Given the description of an element on the screen output the (x, y) to click on. 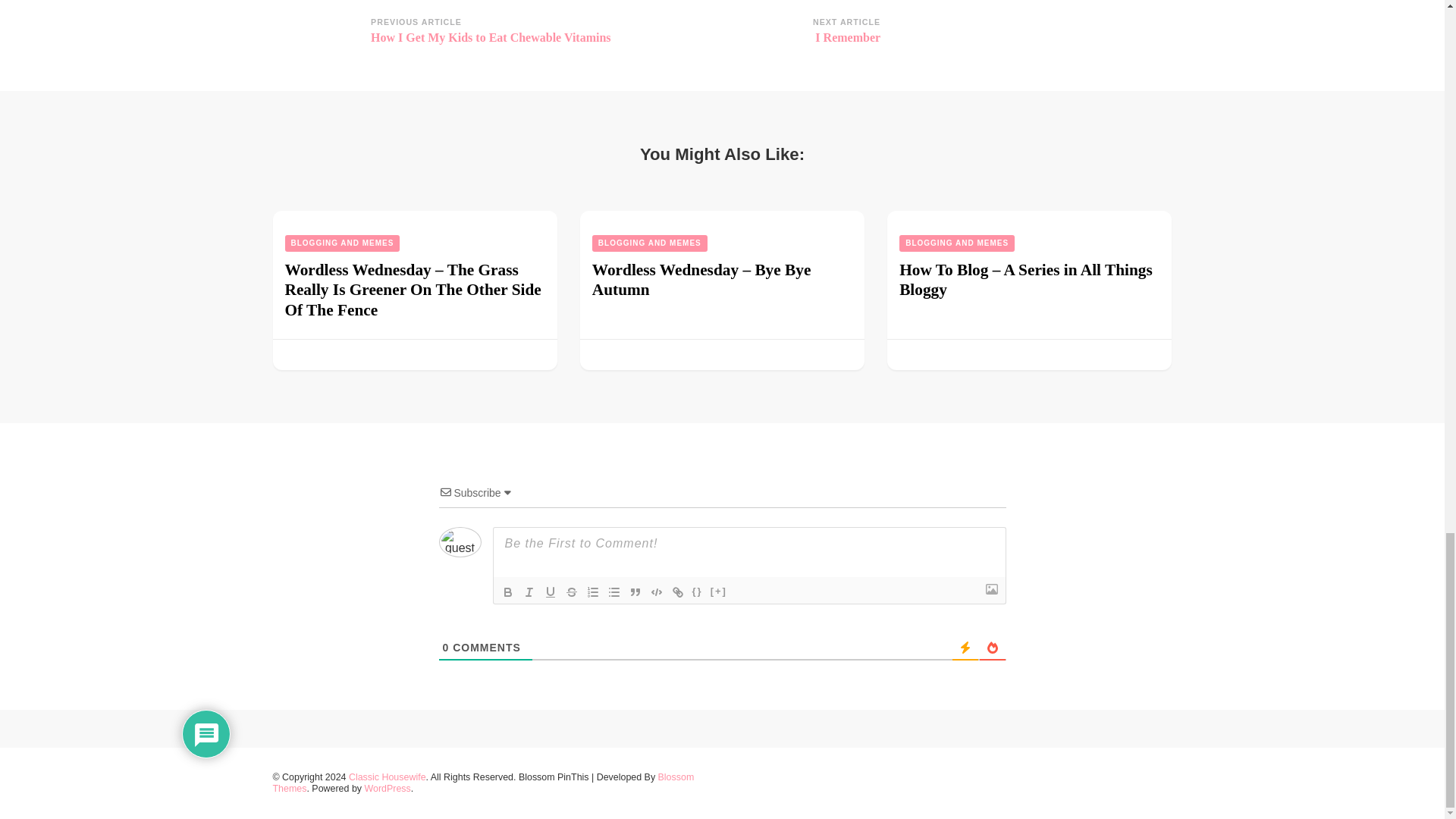
Unordered List (614, 592)
Link (677, 592)
Blockquote (635, 592)
Strike (571, 592)
Bold (507, 592)
Italic (529, 592)
Code Block (656, 592)
Spoiler (718, 592)
Ordered List (593, 592)
Source Code (697, 592)
Underline (550, 592)
